Given the description of an element on the screen output the (x, y) to click on. 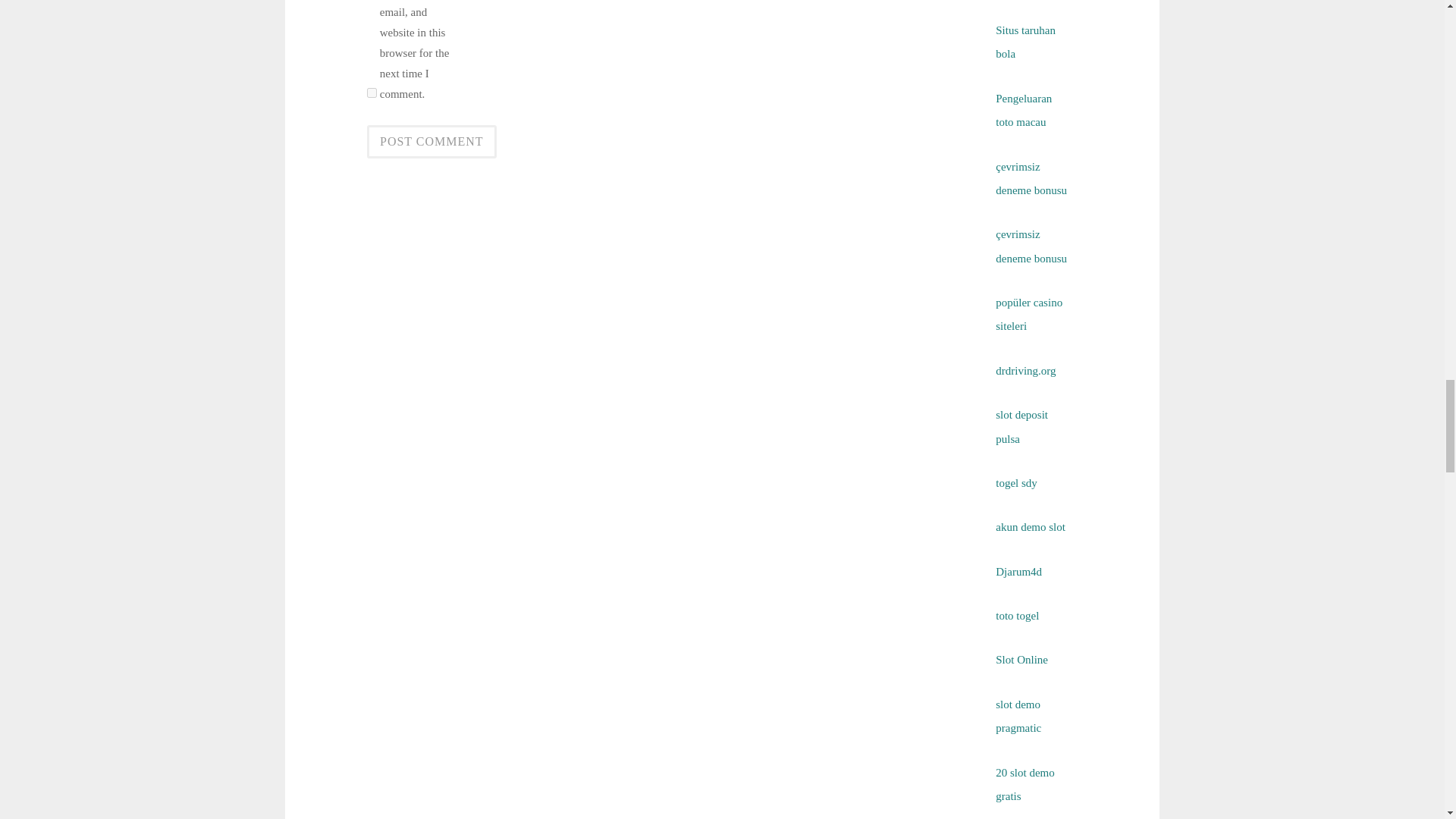
yes (371, 92)
Post Comment (431, 141)
Post Comment (431, 141)
